Given the description of an element on the screen output the (x, y) to click on. 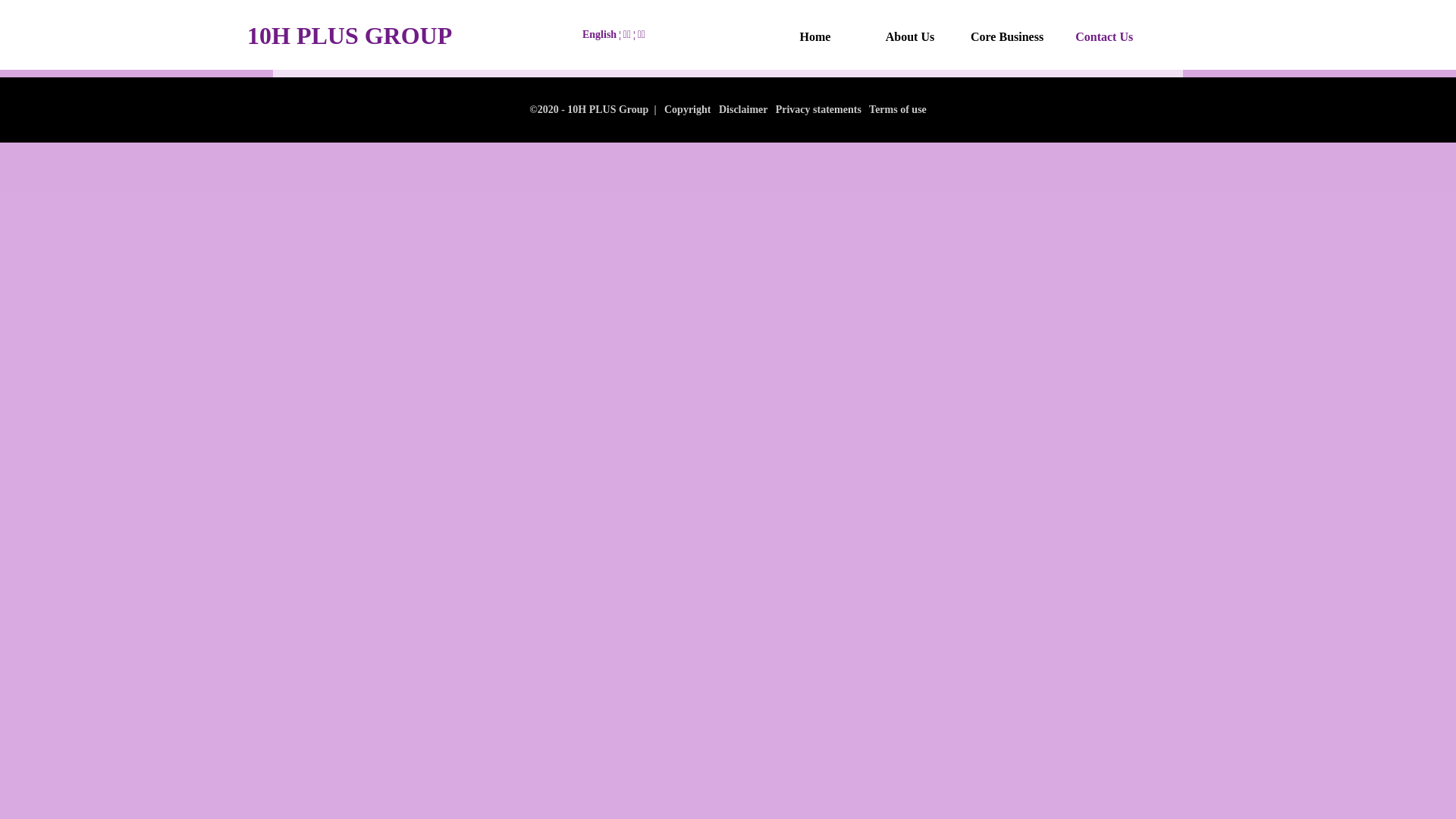
About Us Element type: text (909, 36)
Home Element type: text (815, 36)
Core Business Element type: text (1006, 36)
Contact Us Element type: text (1104, 36)
English Element type: text (599, 34)
Home Element type: text (814, 36)
